Given the description of an element on the screen output the (x, y) to click on. 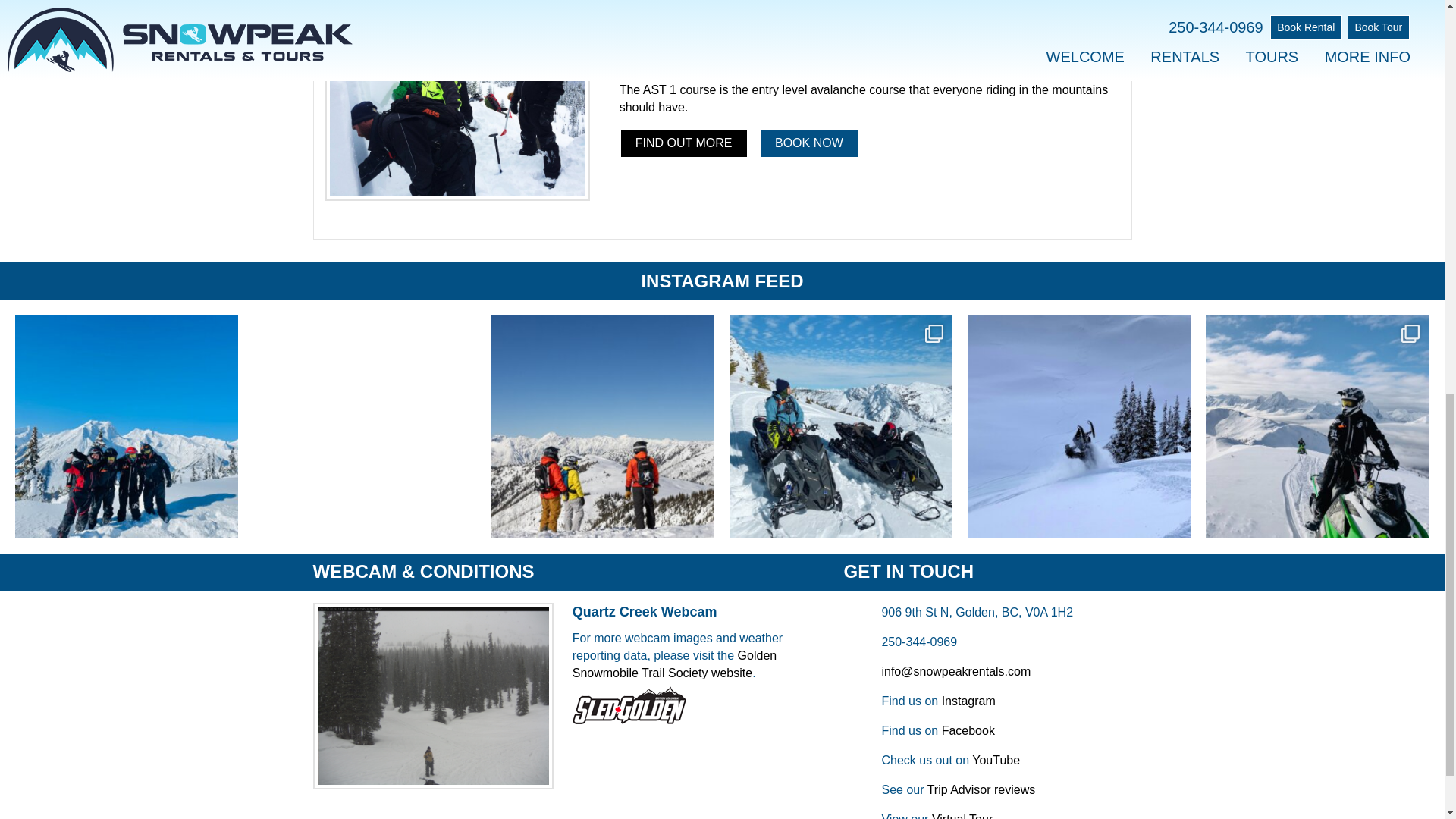
BOOK NOW (808, 142)
FIND OUT MORE (684, 142)
